Given the description of an element on the screen output the (x, y) to click on. 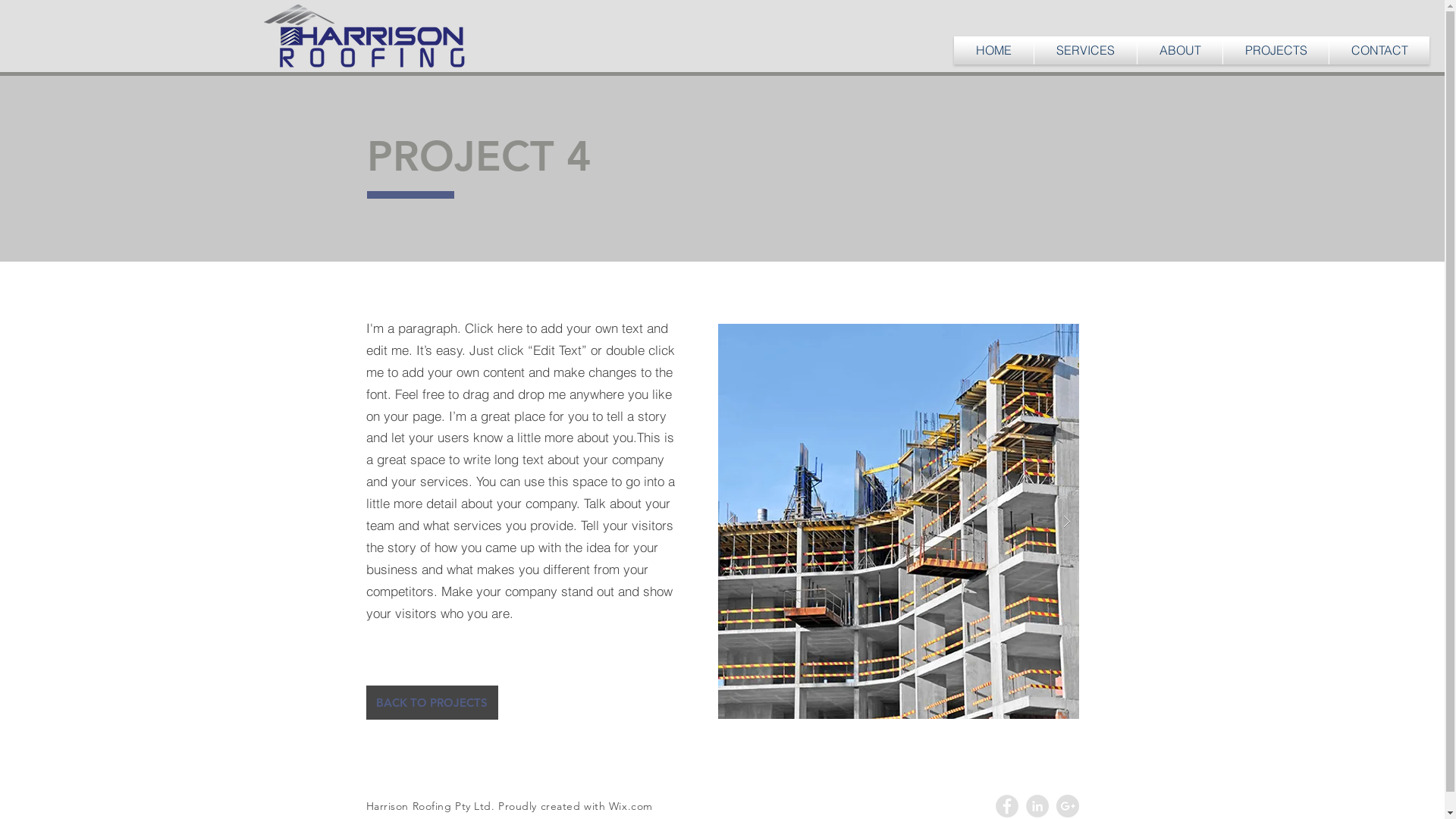
SERVICES Element type: text (1085, 50)
HOME Element type: text (993, 50)
PROJECTS Element type: text (1275, 50)
Wix.com Element type: text (630, 805)
ABOUT Element type: text (1179, 50)
BACK TO PROJECTS Element type: text (431, 702)
CONTACT Element type: text (1379, 50)
